Given the description of an element on the screen output the (x, y) to click on. 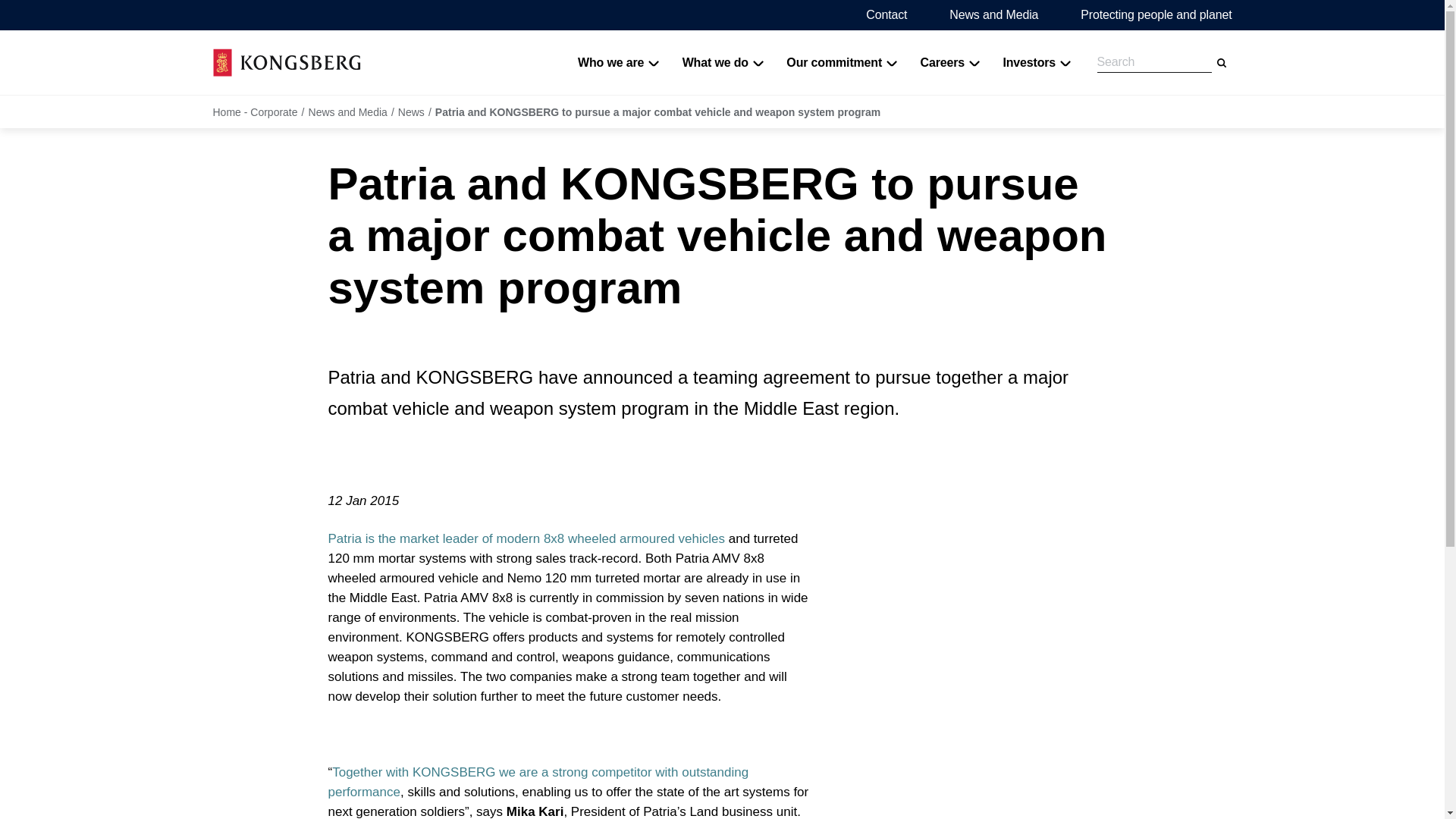
Contact (886, 14)
Investors (1036, 62)
Our commitment (841, 62)
Careers (950, 62)
Protecting people and planet (1155, 14)
What we do (723, 62)
News and Media (993, 14)
Home - Corporate (285, 62)
Who we are (618, 62)
